Given the description of an element on the screen output the (x, y) to click on. 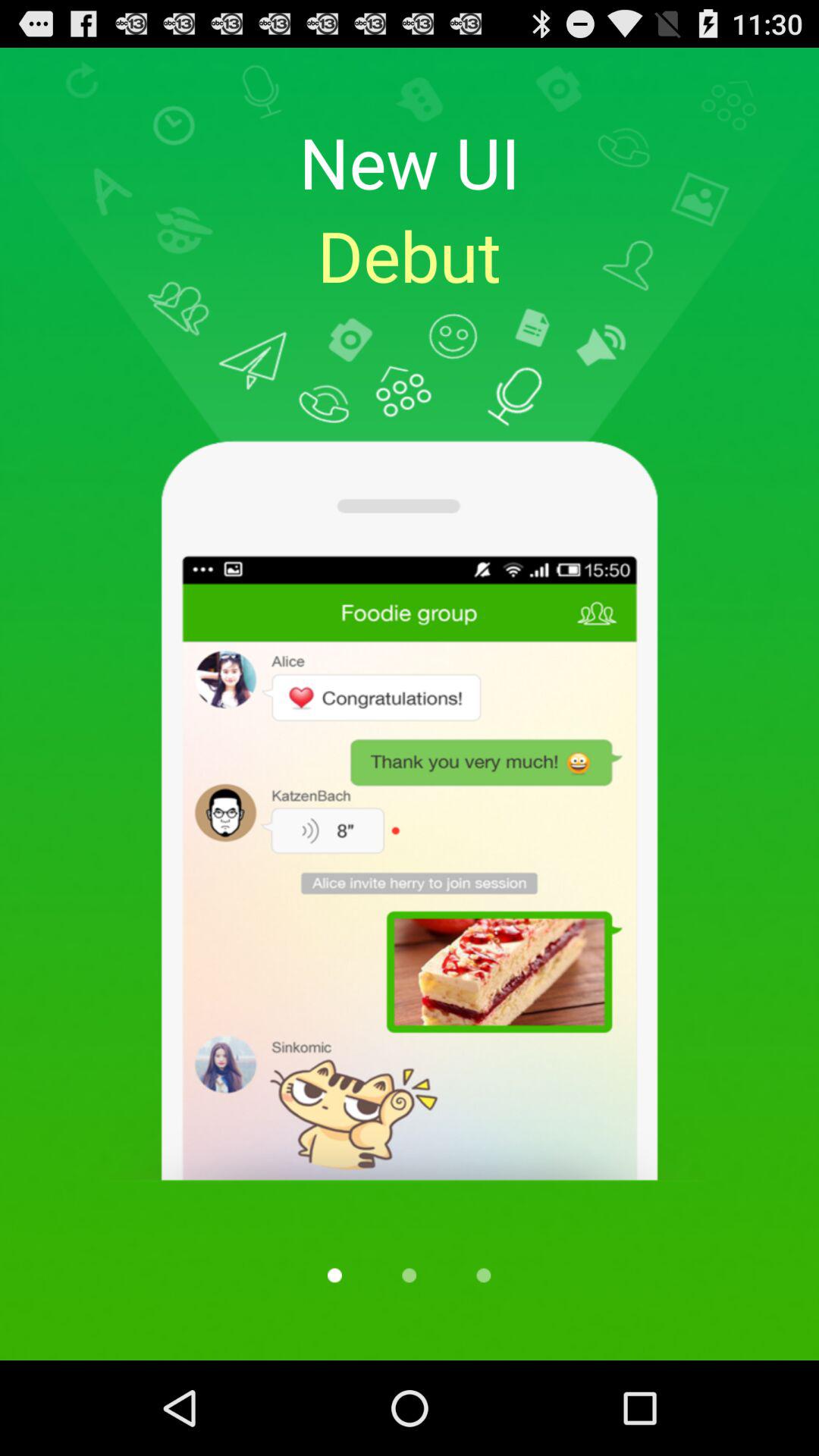
scroll through (334, 1275)
